Given the description of an element on the screen output the (x, y) to click on. 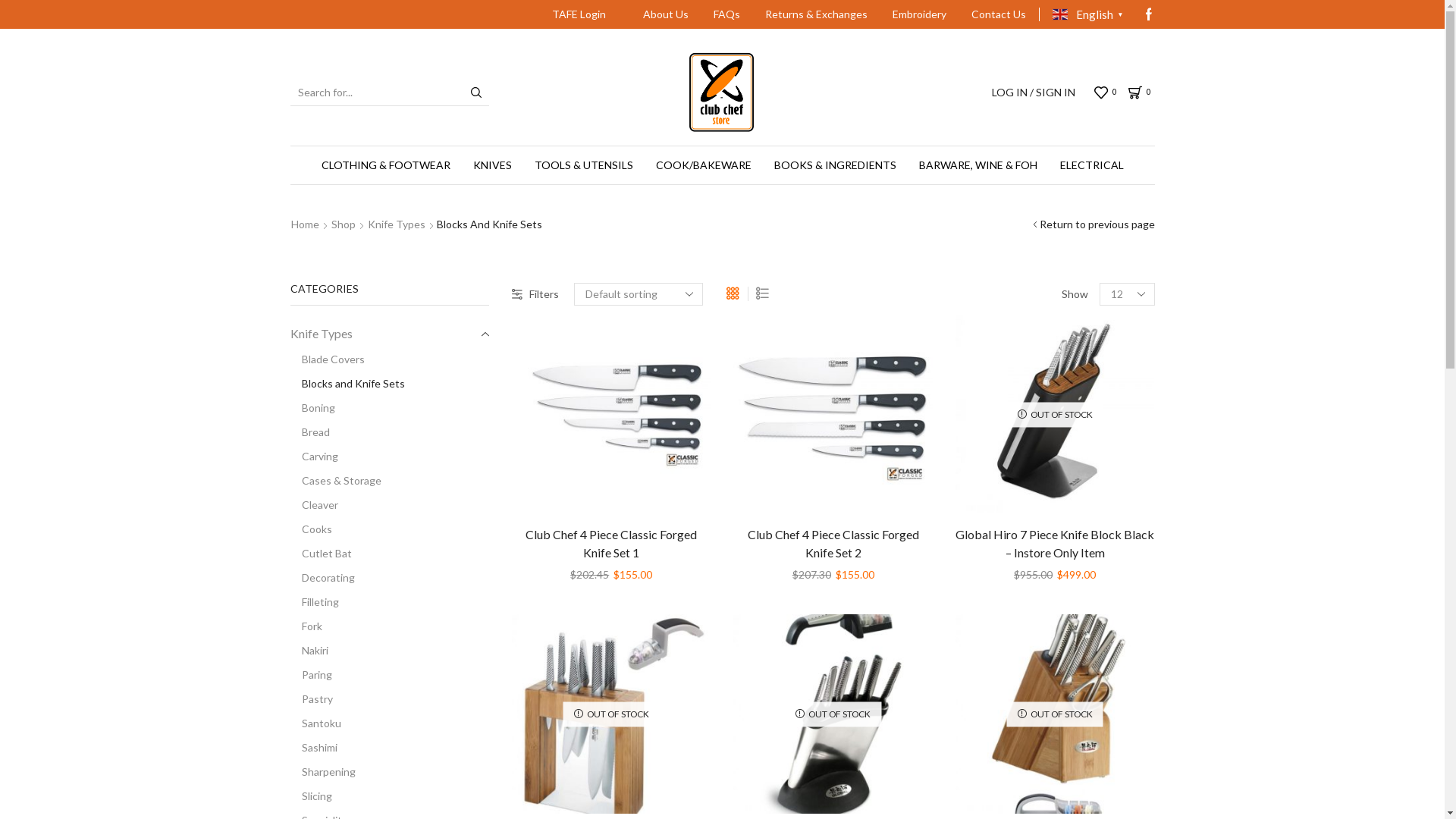
Home Element type: text (304, 224)
Decorating Element type: text (321, 577)
Club Chef 4 Piece Classic Forged Knife Set 2 Element type: text (832, 543)
KNIVES Element type: text (491, 165)
Returns & Exchanges Element type: text (815, 14)
TOOLS & UTENSILS Element type: text (583, 165)
FAQs Element type: text (726, 14)
Bread Element type: text (309, 432)
Embroidery Element type: text (919, 14)
Blade Covers Element type: text (326, 359)
Cleaver Element type: text (313, 504)
BOOKS & INGREDIENTS Element type: text (834, 165)
Cooks Element type: text (310, 529)
Slicing Element type: text (310, 796)
BARWARE, WINE & FOH Element type: text (977, 165)
Sashimi Element type: text (312, 747)
Contact Us Element type: text (998, 14)
About Us Element type: text (666, 14)
Santoku Element type: text (314, 723)
ELECTRICAL Element type: text (1091, 165)
Nakiri Element type: text (308, 650)
Shop Element type: text (343, 224)
Club Chef 4 Piece Classic Forged Knife Set 1 Element type: hover (721, 92)
Log in Element type: text (960, 340)
TAFE Login Element type: text (578, 14)
Sharpening Element type: text (321, 771)
Blocks and Knife Sets Element type: text (346, 383)
Paring Element type: text (310, 674)
Cutlet Bat Element type: text (320, 553)
Cases & Storage Element type: text (334, 480)
0 Element type: text (1141, 92)
Return to previous page Element type: text (1096, 224)
CLOTHING & FOOTWEAR Element type: text (385, 165)
Filters Element type: text (534, 293)
Club Chef 4 Piece Classic Forged Knife Set 1 3 Element type: hover (610, 413)
Pastry Element type: text (310, 699)
Knife Types Element type: text (320, 333)
COOK/BAKEWARE Element type: text (703, 165)
Club Chef 4 Piece Classic Forged Knife Set 2 Element type: hover (832, 413)
Fork Element type: text (305, 626)
Carving Element type: text (313, 456)
Boning Element type: text (311, 407)
0 Element type: text (1107, 92)
LOG IN / SIGN IN Element type: text (1033, 92)
Knife Types Element type: text (396, 224)
Filleting Element type: text (313, 601)
Club Chef 4 Piece Classic Forged Knife Set 1 Element type: text (610, 543)
Facebook Element type: text (1148, 14)
